Given the description of an element on the screen output the (x, y) to click on. 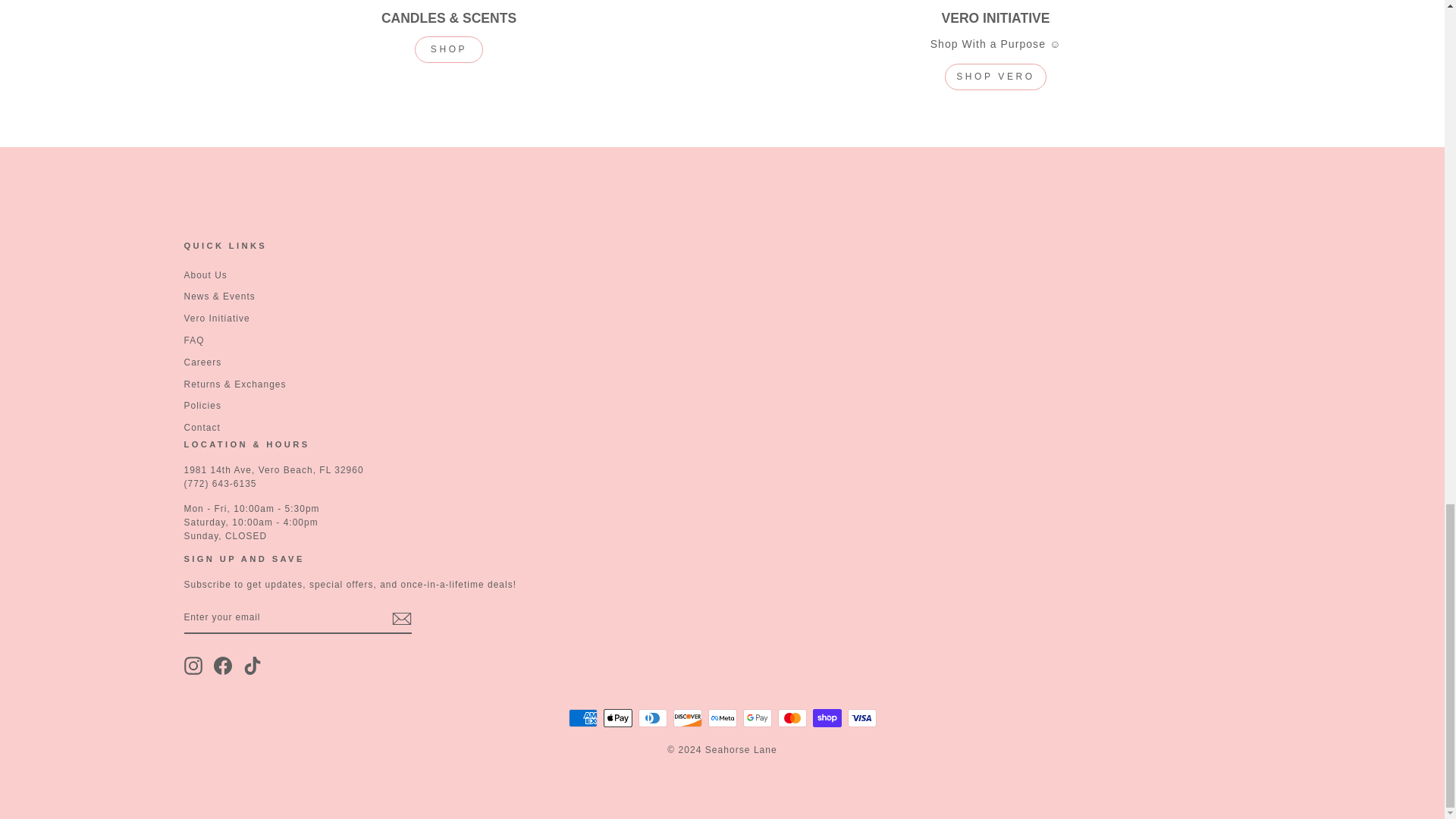
icon-email (400, 618)
Discover (686, 718)
Diners Club (652, 718)
instagram (192, 665)
Meta Pay (721, 718)
American Express (582, 718)
Seahorse Lane on Instagram (192, 665)
Apple Pay (617, 718)
Seahorse Lane on Facebook (222, 665)
Seahorse Lane on TikTok (251, 665)
